Given the description of an element on the screen output the (x, y) to click on. 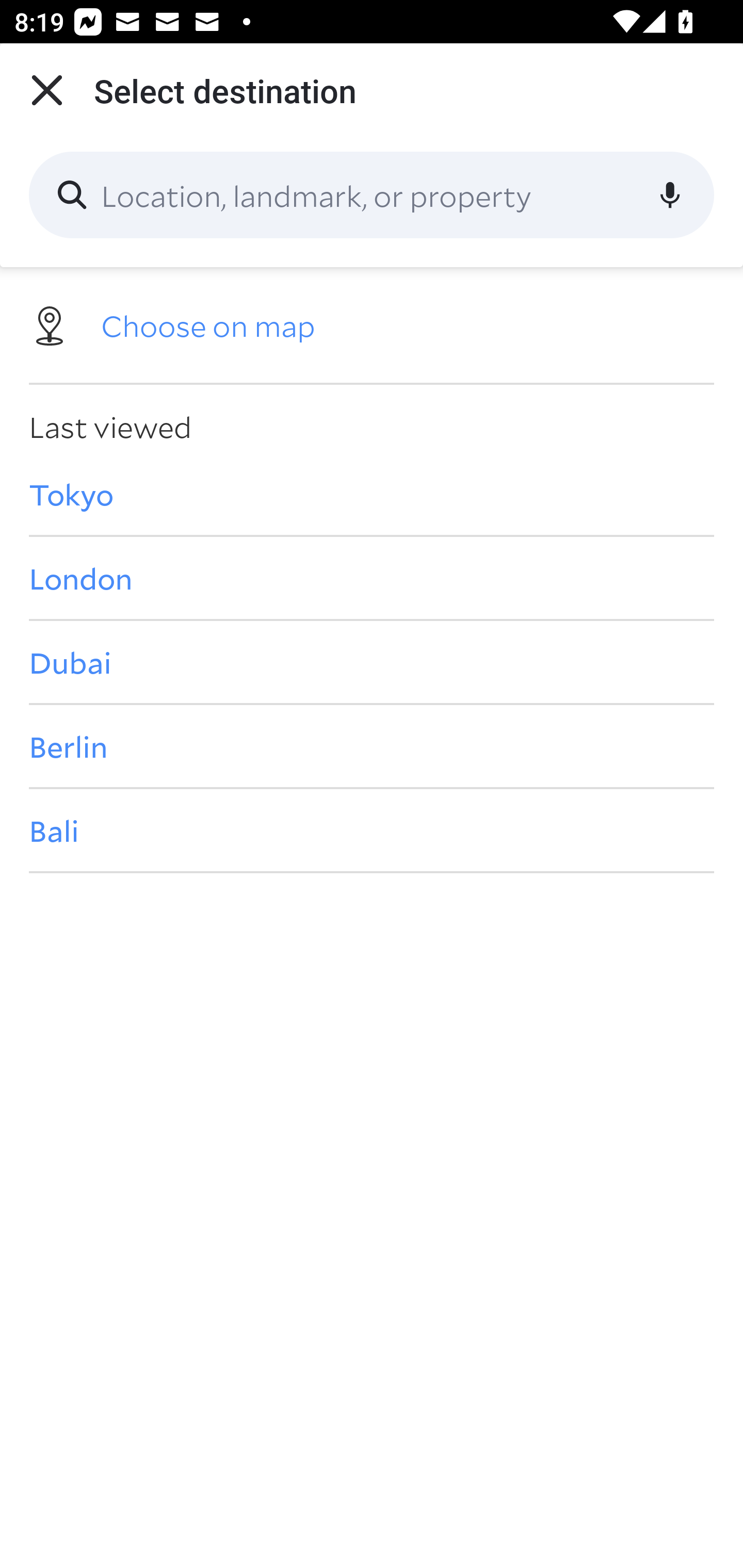
Location, landmark, or property (371, 195)
Choose on map (371, 324)
Tokyo (371, 493)
London (371, 577)
Dubai (371, 661)
Berlin (371, 746)
Bali (371, 829)
